Given the description of an element on the screen output the (x, y) to click on. 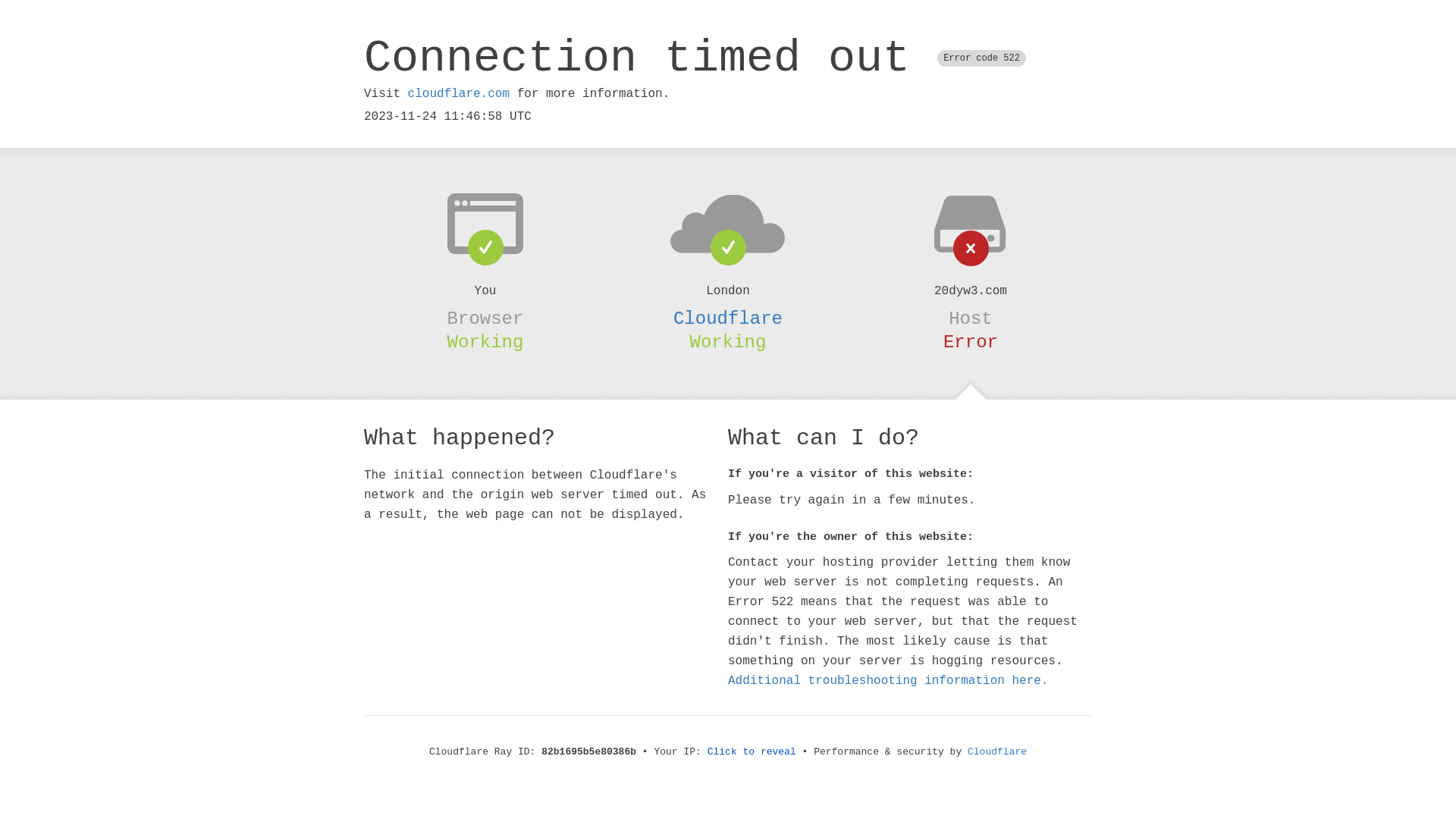
Cloudflare Element type: text (996, 751)
Click to reveal Element type: text (751, 751)
cloudflare.com Element type: text (458, 93)
Cloudflare Element type: text (727, 318)
Additional troubleshooting information here. Element type: text (888, 680)
